Given the description of an element on the screen output the (x, y) to click on. 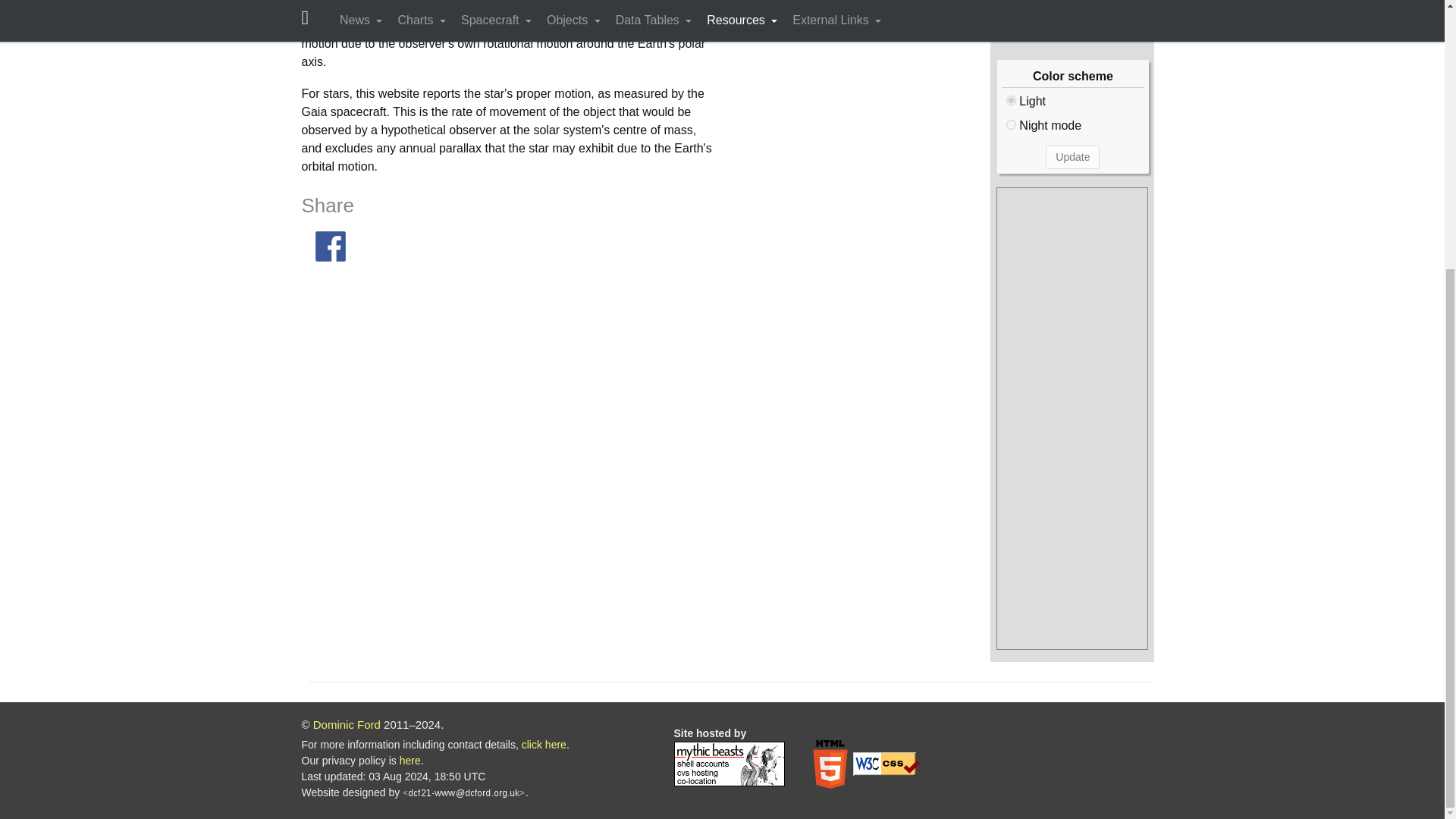
Update (1072, 156)
0 (1011, 100)
1 (1011, 124)
Change location... (1072, 17)
